Given the description of an element on the screen output the (x, y) to click on. 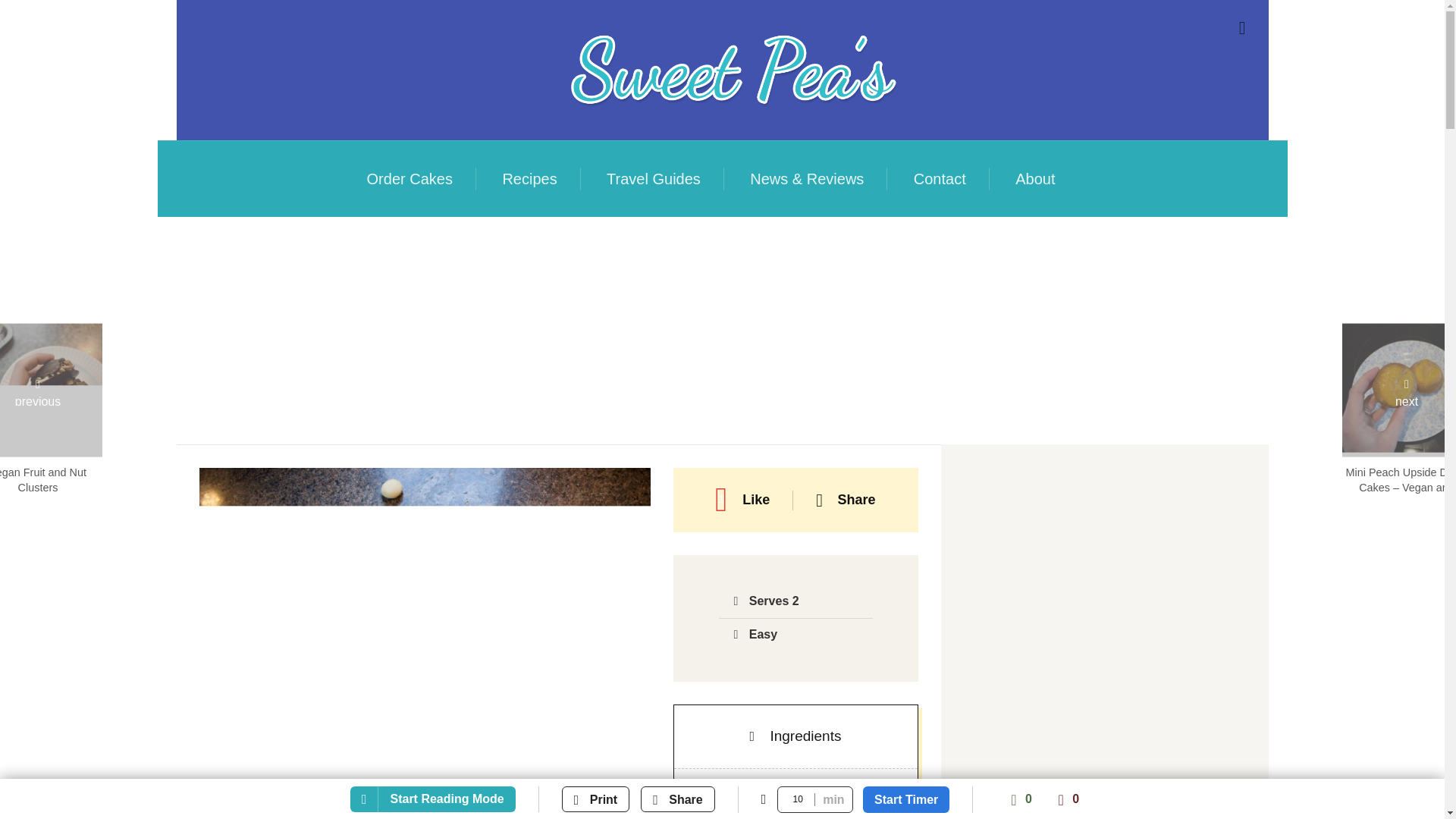
2 (836, 800)
0 (1068, 799)
About (1034, 178)
Order Cakes (409, 178)
10 (815, 799)
Contact (940, 178)
Start Reading Mode (432, 799)
Print (595, 799)
Travel Guides (653, 178)
